Given the description of an element on the screen output the (x, y) to click on. 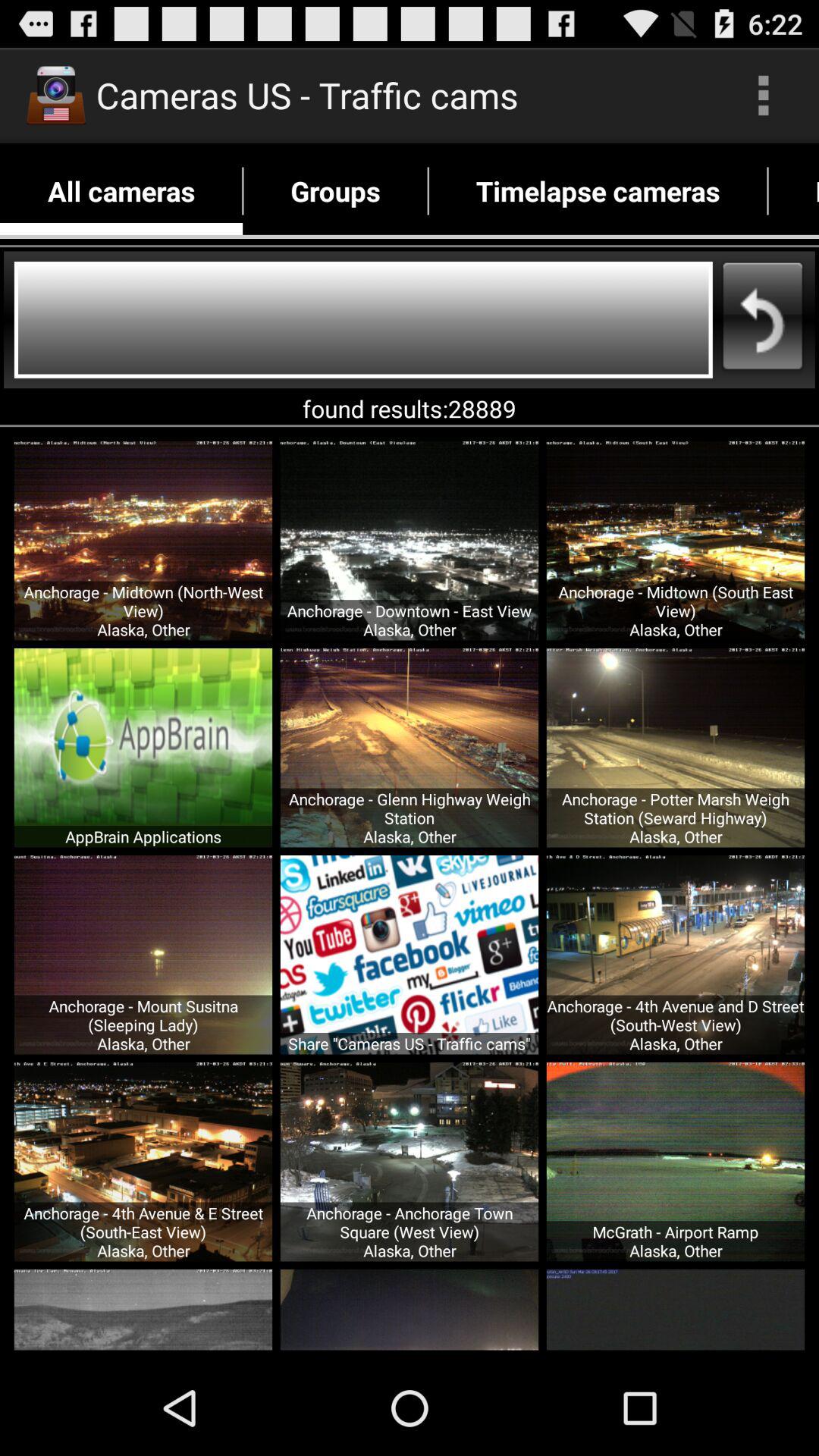
choose favorites app (793, 190)
